Given the description of an element on the screen output the (x, y) to click on. 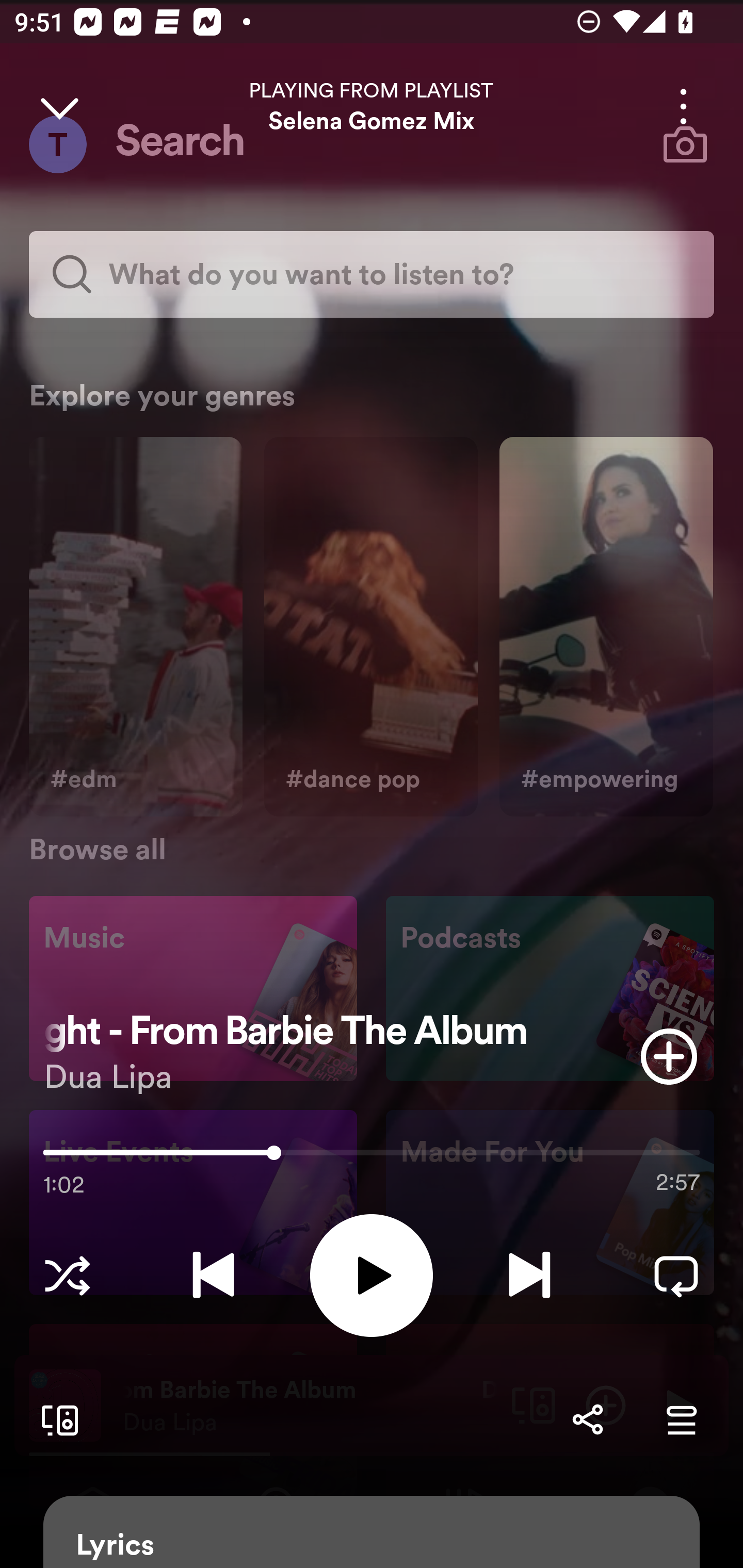
Close (59, 106)
PLAYING FROM PLAYLIST Selena Gomez Mix (371, 106)
Add item (669, 1056)
1:02 2:57 62230.0 Use volume keys to adjust (371, 1157)
Play (371, 1275)
Previous (212, 1275)
Next (529, 1275)
Choose a Listening Mode (66, 1275)
Repeat (676, 1275)
Share (587, 1419)
Go to Queue (681, 1419)
Connect to a device. Opens the devices menu (55, 1419)
Lyrics (371, 1531)
